Given the description of an element on the screen output the (x, y) to click on. 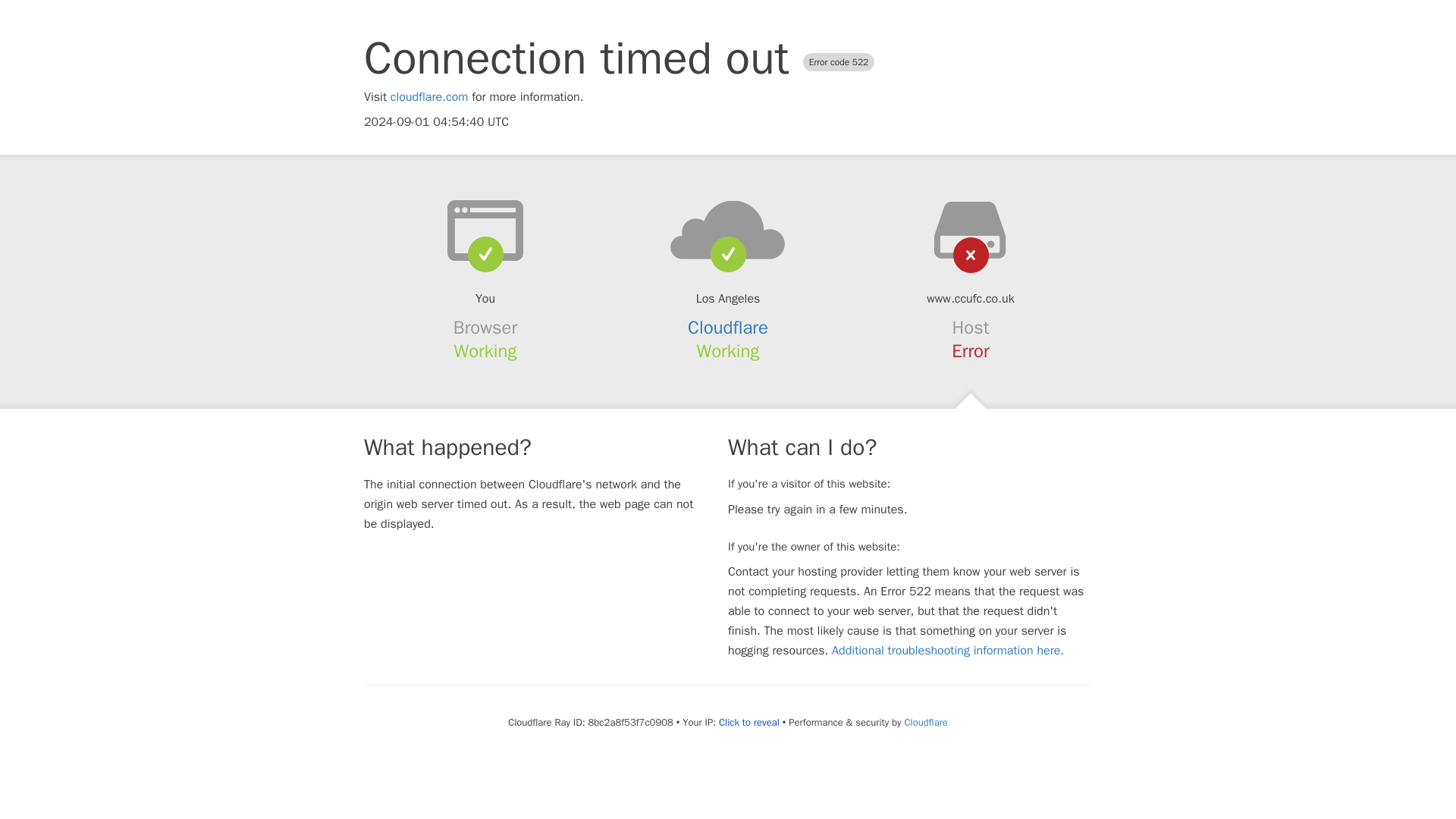
cloudflare.com (429, 96)
Click to reveal (748, 722)
Cloudflare (925, 721)
Additional troubleshooting information here. (947, 650)
Cloudflare (727, 327)
